Given the description of an element on the screen output the (x, y) to click on. 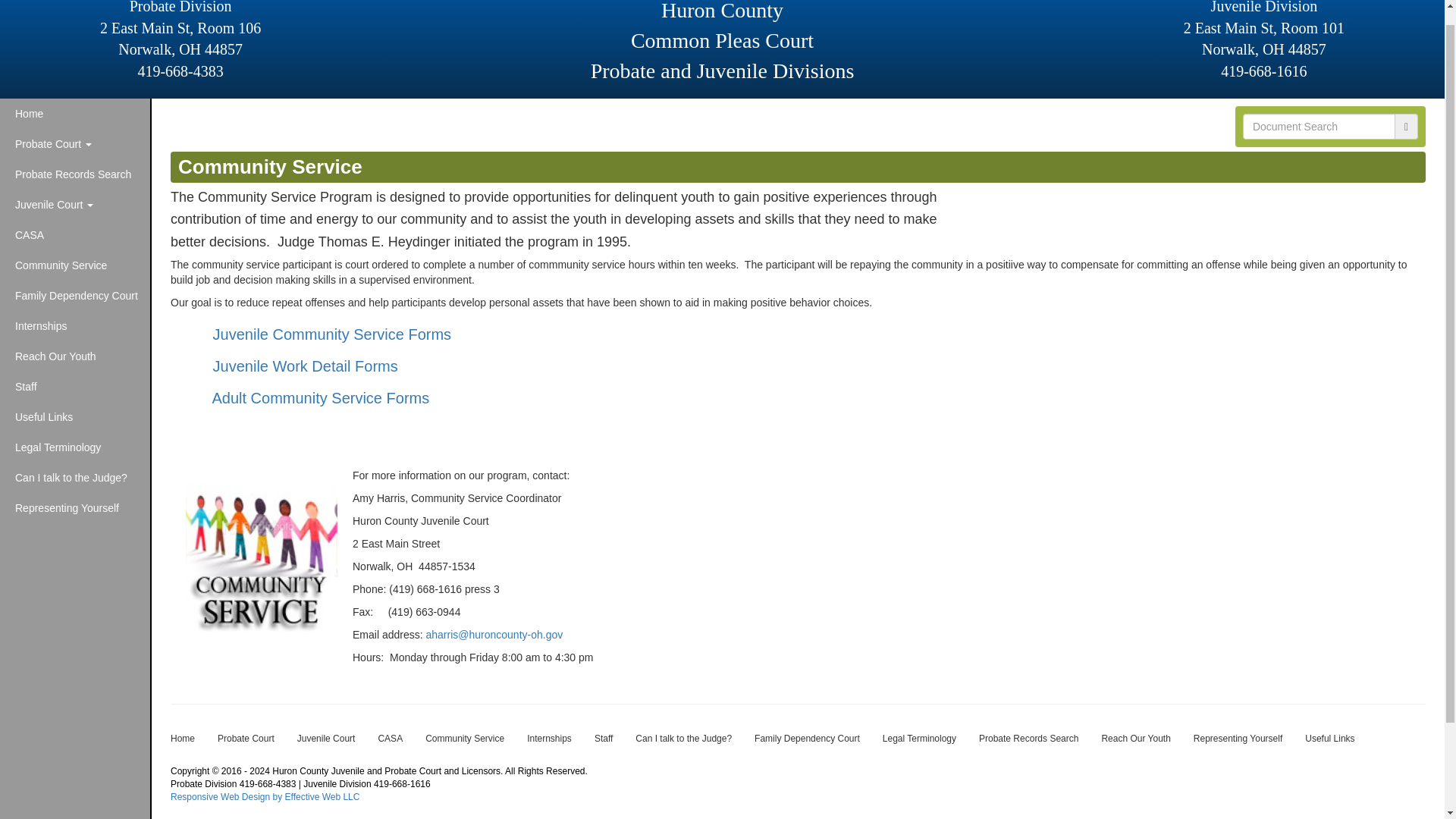
Family Dependency Court (74, 295)
Probate Court (245, 738)
Reach Our Youth (74, 356)
Reach Our Youth (74, 356)
Home (74, 113)
Community Service (74, 265)
Useful Links (74, 417)
Community Service (74, 265)
Staff (74, 386)
Probate Court (74, 143)
